Given the description of an element on the screen output the (x, y) to click on. 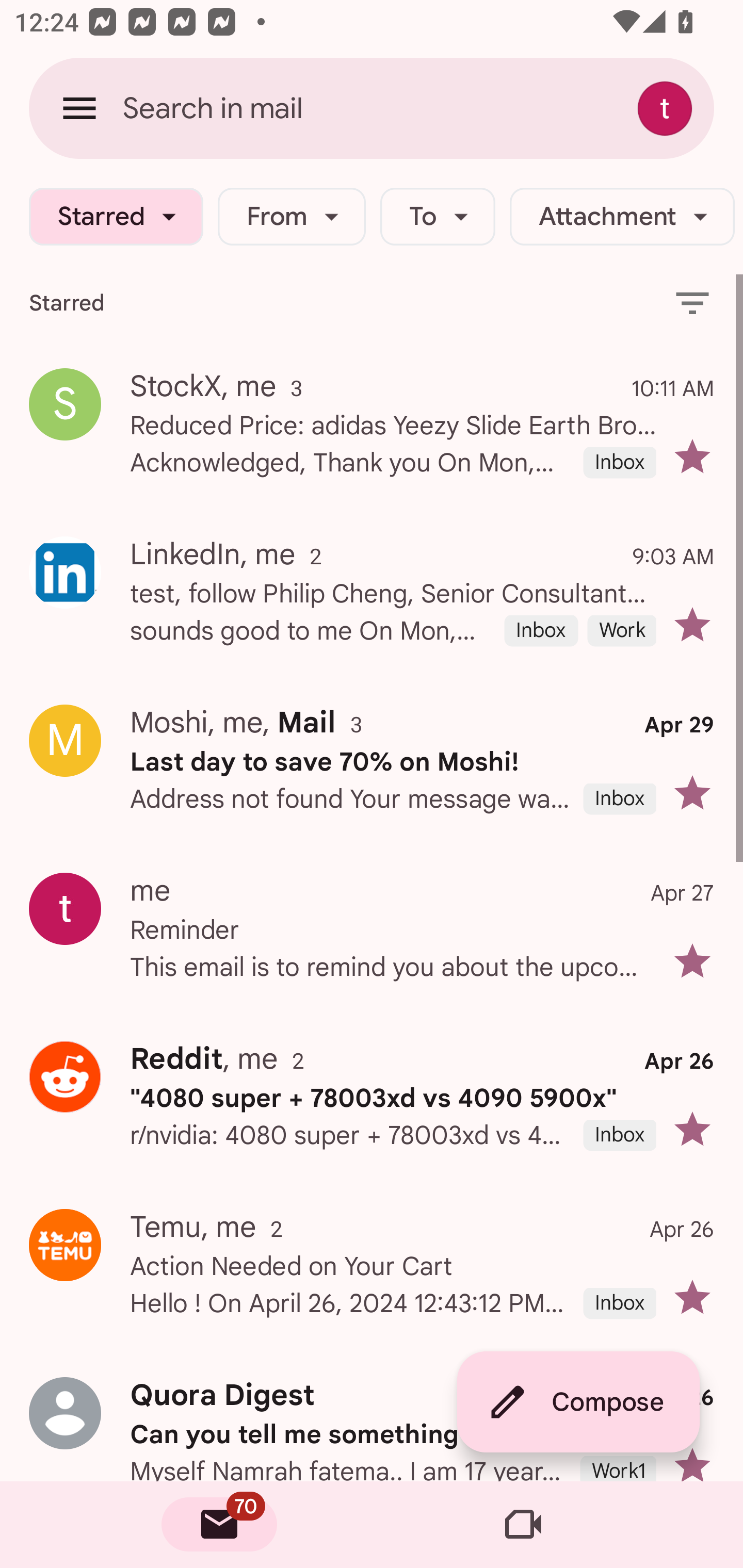
Open navigation drawer (79, 108)
Starred (115, 217)
From (291, 217)
To (437, 217)
Attachment (621, 217)
Filter icon (692, 302)
Compose (577, 1401)
Meet (523, 1524)
